Given the description of an element on the screen output the (x, y) to click on. 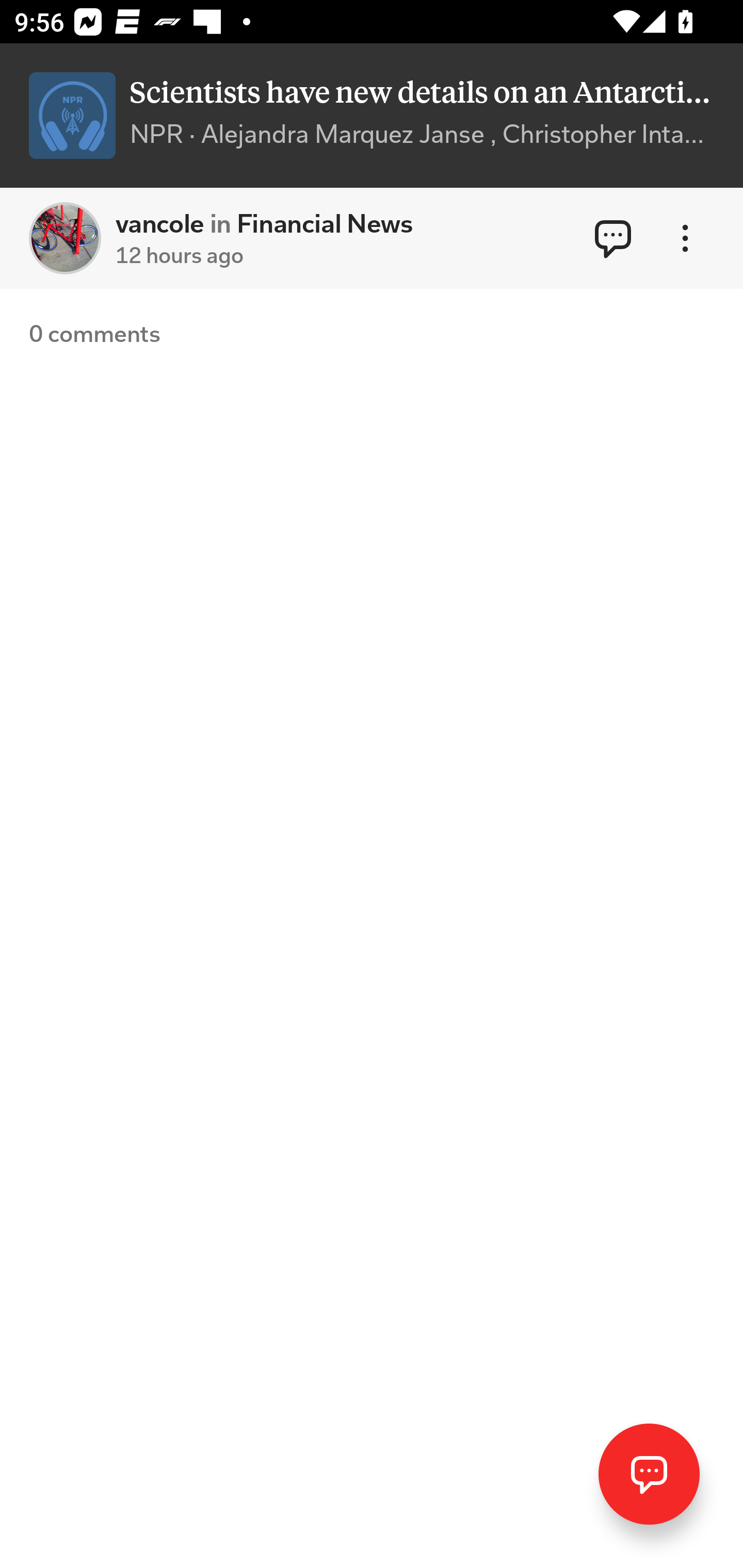
vancole (64, 238)
